Given the description of an element on the screen output the (x, y) to click on. 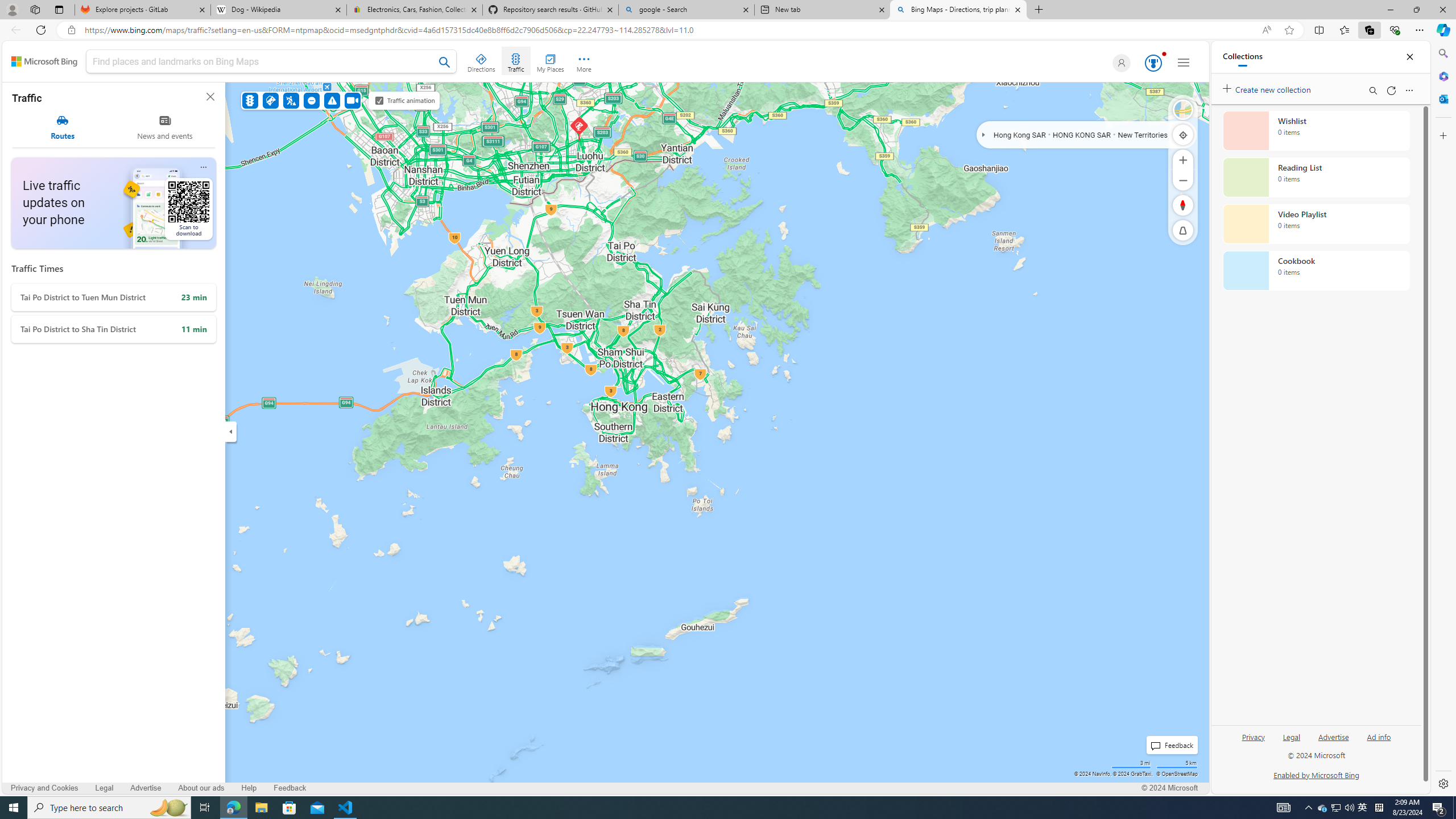
Privacy (1253, 736)
Feedback (290, 787)
To get missing image descriptions, open the context menu. (168, 202)
Help (248, 787)
AutomationID: serp_medal_svg (1152, 63)
Road (1182, 109)
Reset to Default Rotation (1182, 204)
Legal (1291, 736)
Traffic animation (378, 100)
AutomationID: rh_meter (1152, 62)
